Given the description of an element on the screen output the (x, y) to click on. 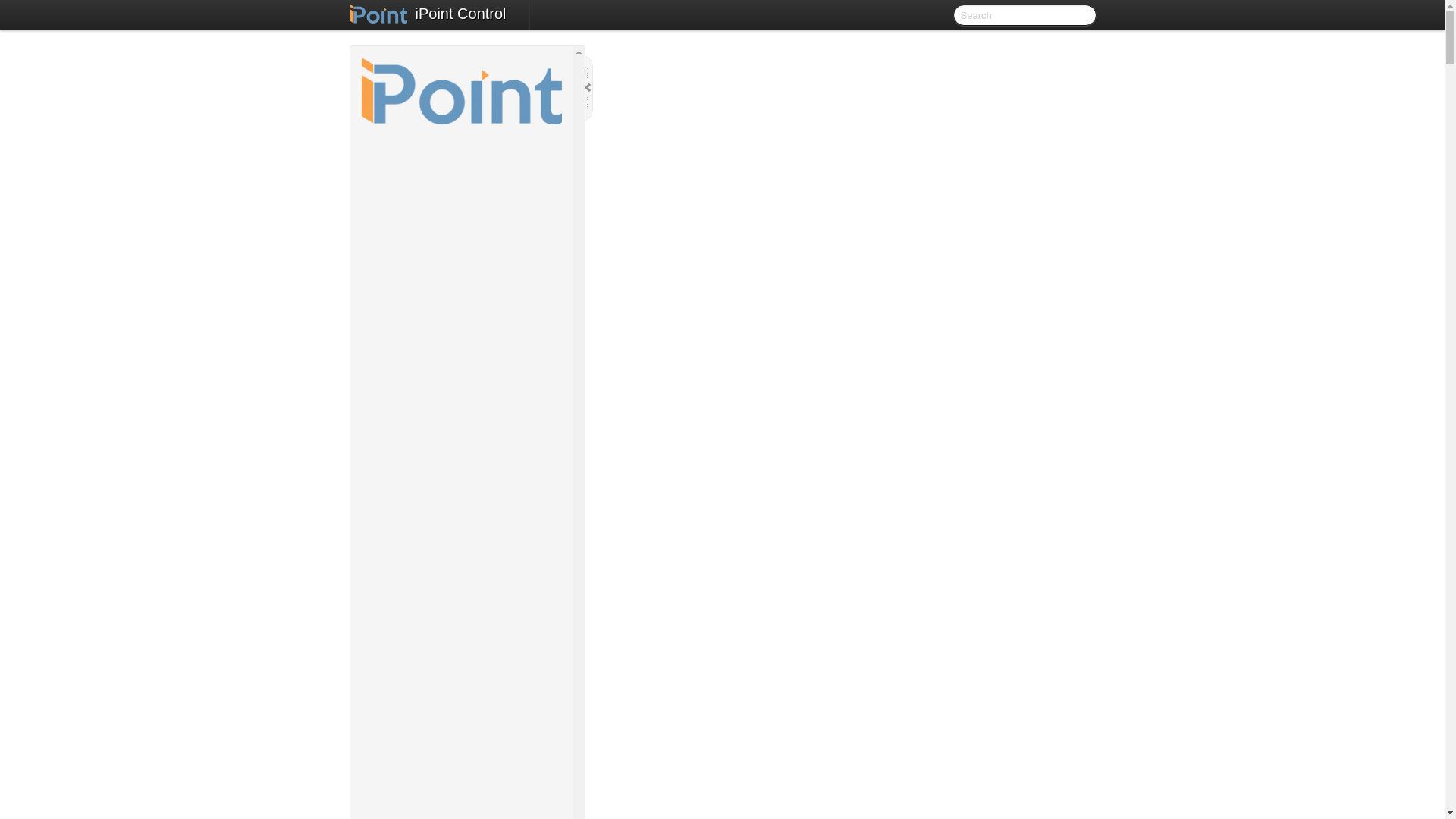
Server Acquisition (475, 227)
Wizard Ninja (483, 614)
Troubleshooting (475, 760)
Learning iPoint (475, 632)
Using iPoint (475, 669)
QB Step 2: Chart of Accounts (491, 407)
QB Step 3: Lists (491, 432)
Setup QuickBooks (483, 363)
Accessing iPoint (467, 190)
Beta Version for Calendar (483, 723)
